Given the description of an element on the screen output the (x, y) to click on. 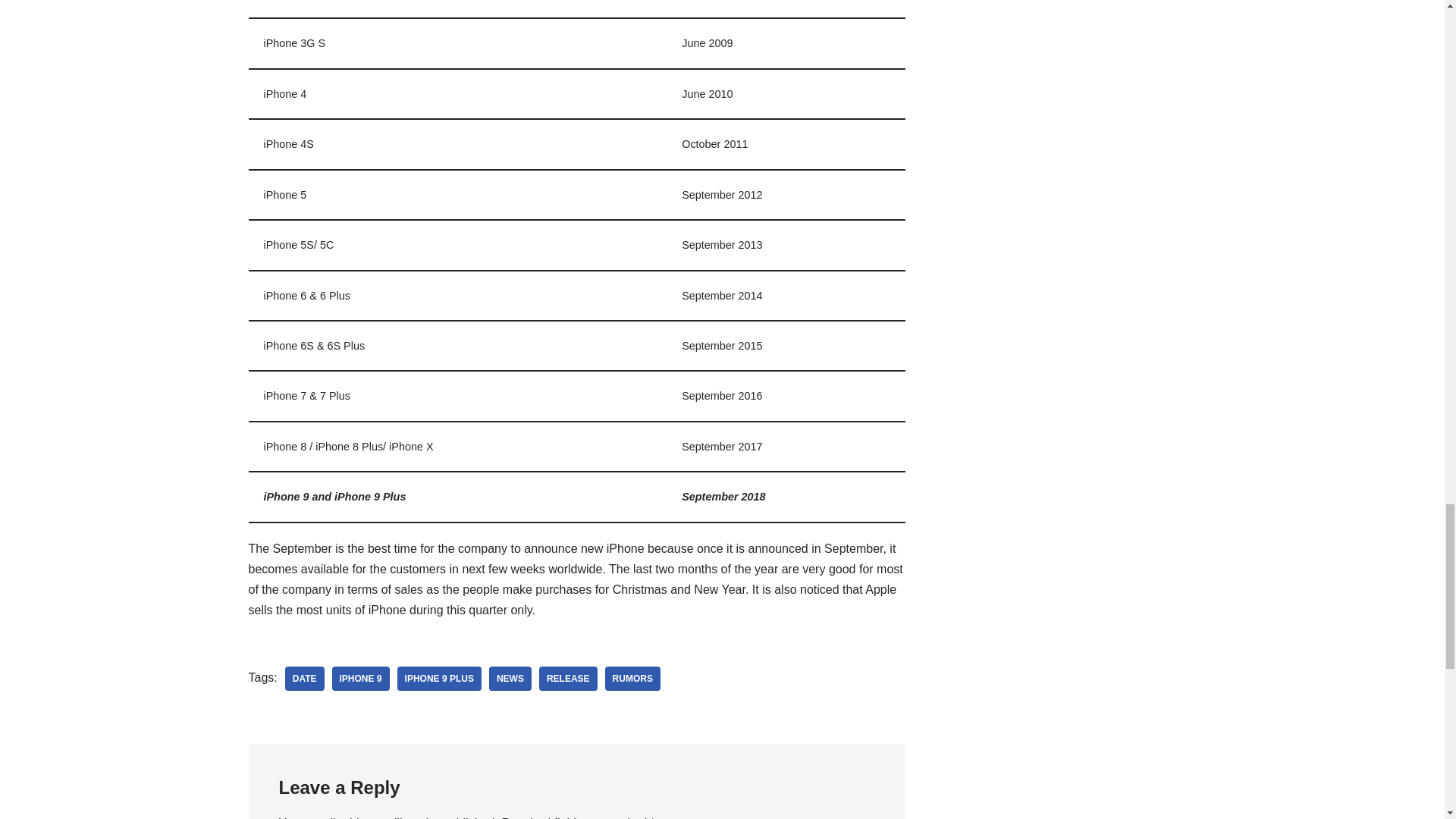
RELEASE (567, 678)
rumors (633, 678)
iphone 9 plus (439, 678)
NEWS (510, 678)
iphone 9 (360, 678)
DATE (304, 678)
IPHONE 9 PLUS (439, 678)
release (567, 678)
date (304, 678)
news (510, 678)
RUMORS (633, 678)
IPHONE 9 (360, 678)
